Given the description of an element on the screen output the (x, y) to click on. 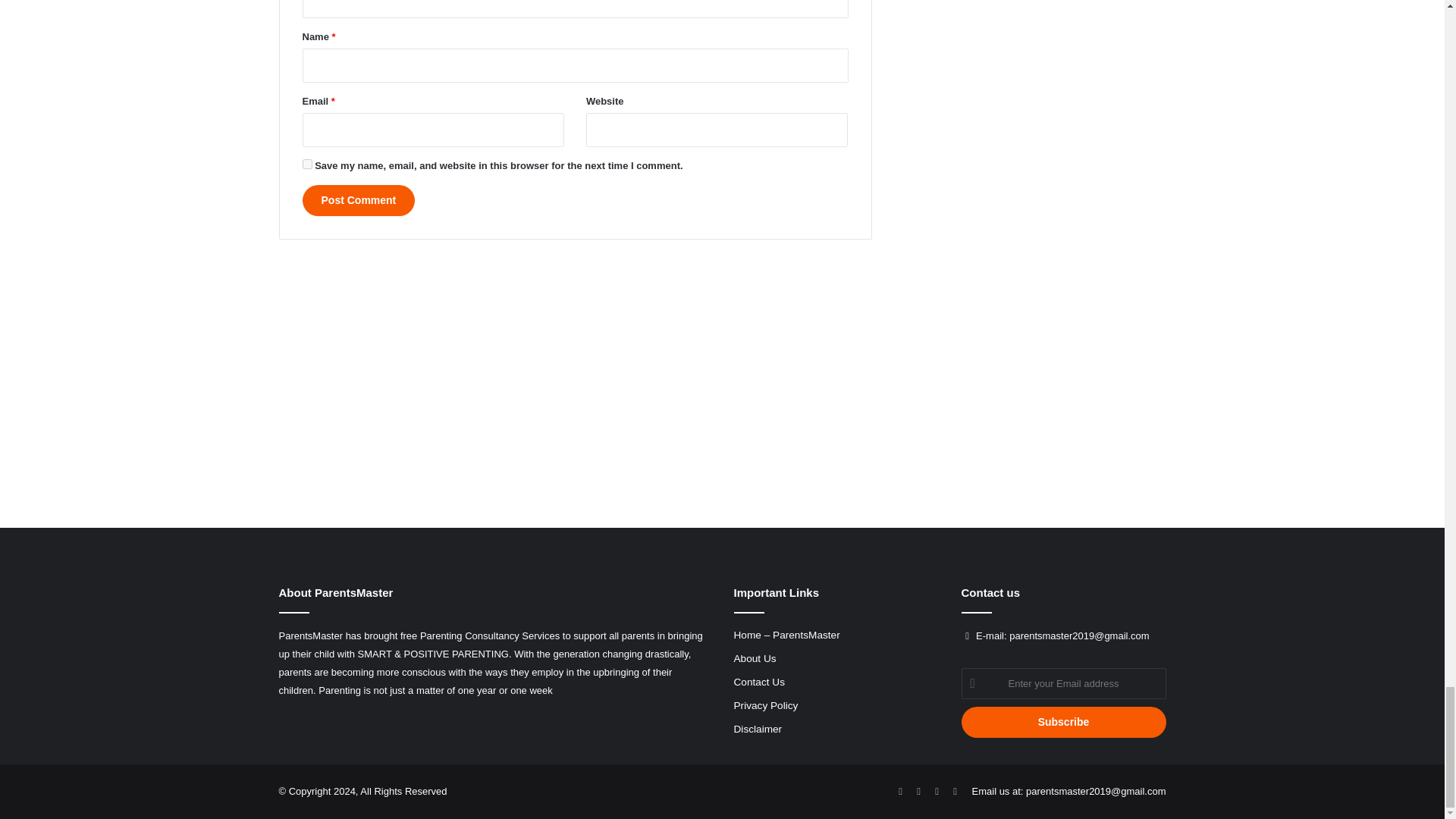
yes (306, 163)
Subscribe (1063, 721)
Post Comment (357, 200)
